Given the description of an element on the screen output the (x, y) to click on. 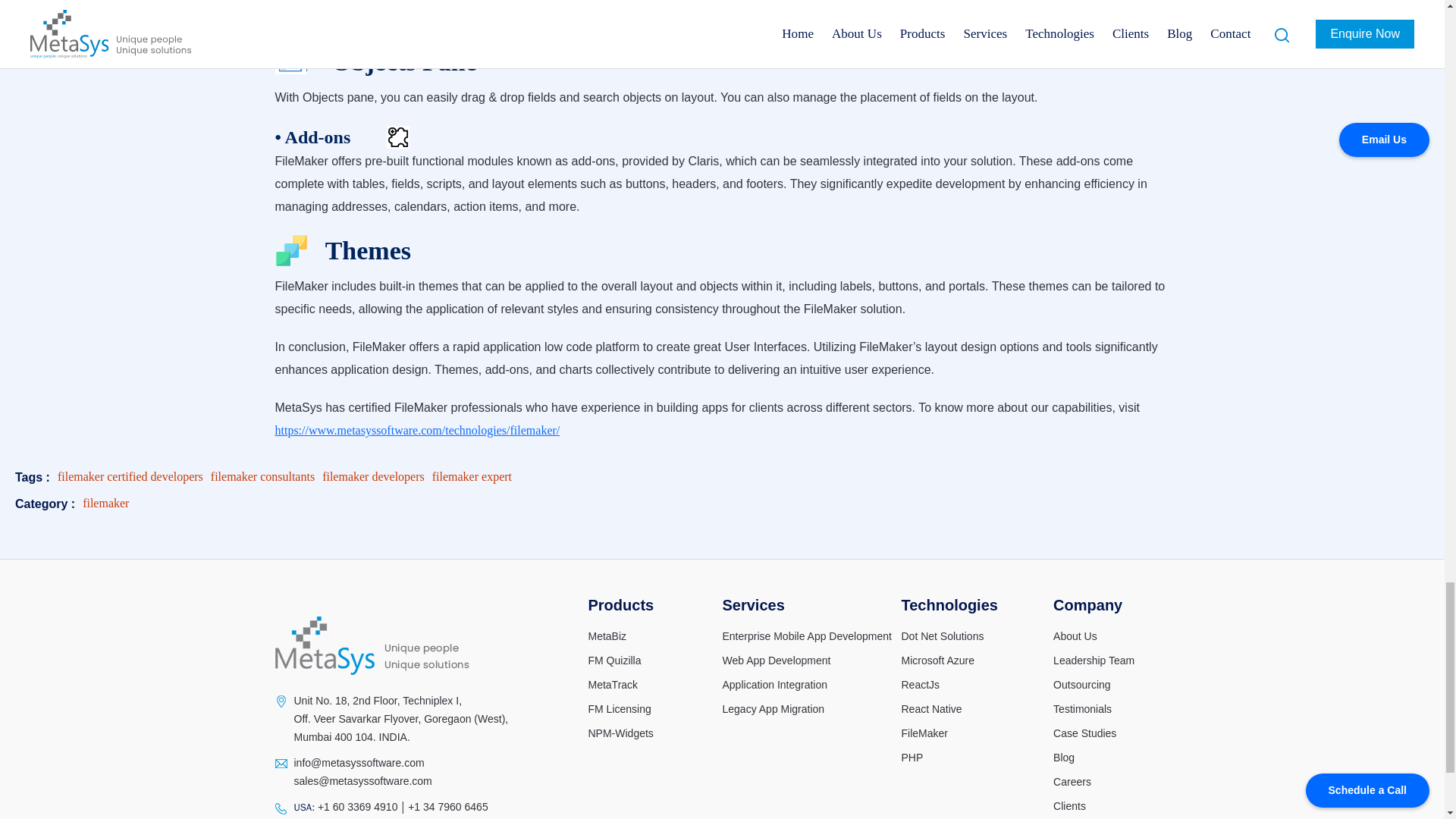
filemaker expert Tag (472, 476)
FileMaker consultants Tag (262, 476)
FileMaker developers Tag (373, 476)
Visit Us (401, 718)
FileMaker certified developers Tag (130, 476)
Call Us (447, 806)
Mail us (363, 780)
Mail us (359, 762)
Call Us (355, 806)
